Given the description of an element on the screen output the (x, y) to click on. 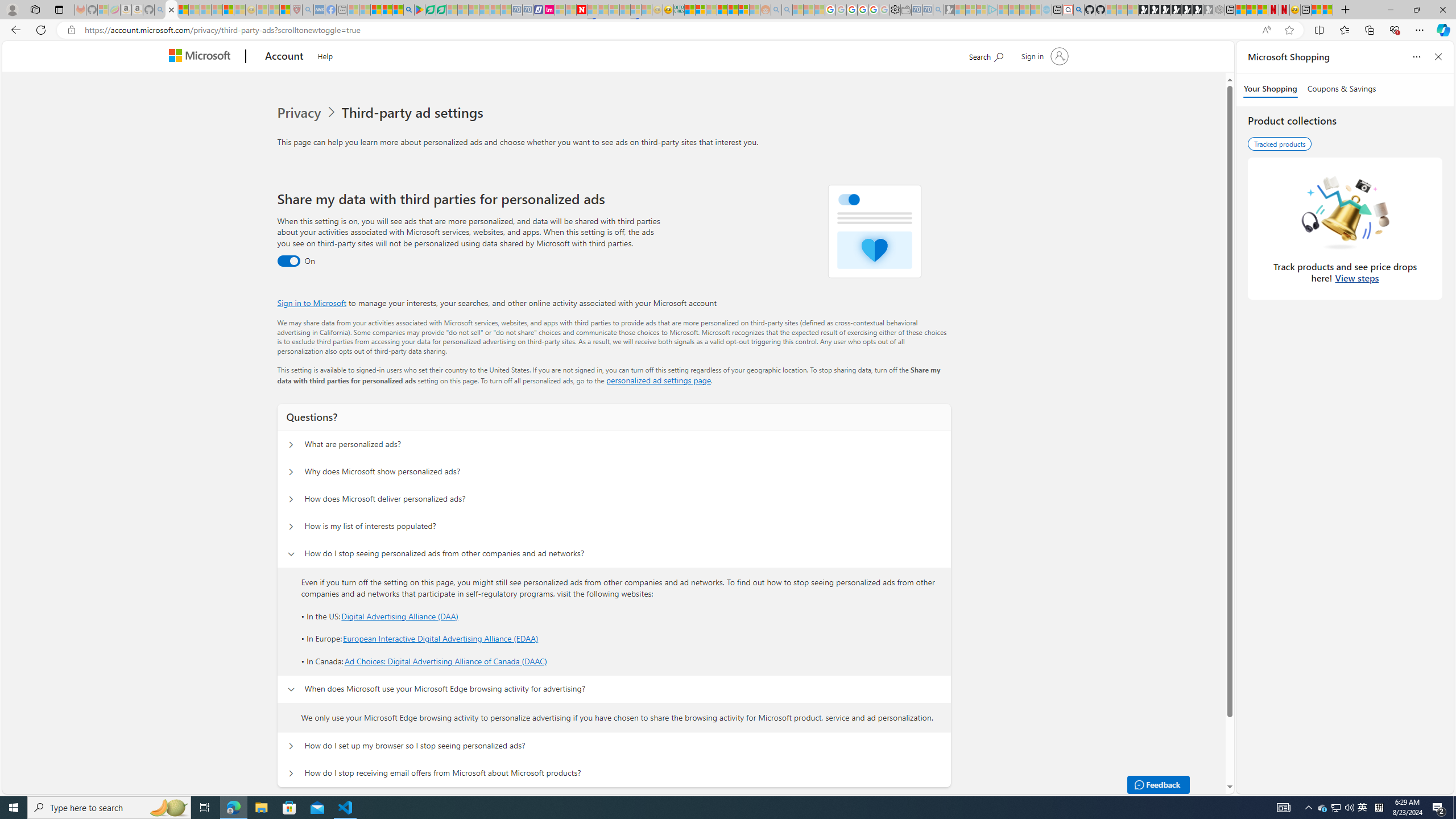
Microsoft Word - consumer-privacy address update 2.2021 (440, 9)
European Interactive Digital Advertising Alliance (EDAA) (440, 638)
Wildlife - MSN (1316, 9)
